Given the description of an element on the screen output the (x, y) to click on. 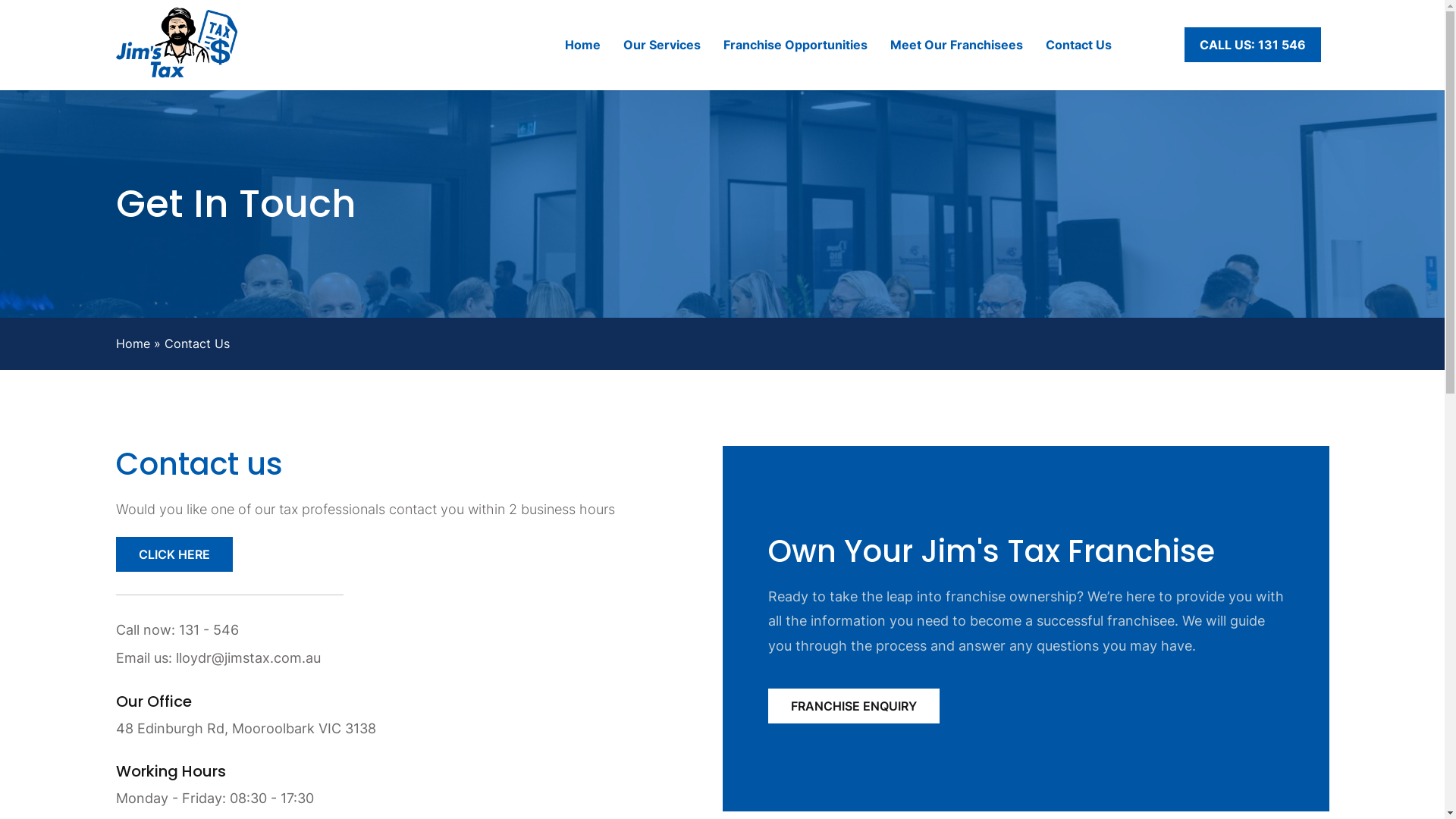
Home Element type: text (582, 44)
Franchise Opportunities Element type: text (795, 44)
Call now: 131 - 546 Element type: text (380, 630)
Home Element type: text (132, 343)
Our Services Element type: text (661, 44)
CALL US: 131 546 Element type: text (1252, 44)
Meet Our Franchisees Element type: text (956, 44)
FRANCHISE ENQUIRY Element type: text (852, 705)
CLICK HERE Element type: text (173, 553)
Email us: lloydr@jimstax.com.au Element type: text (380, 658)
Contact Us Element type: text (1078, 44)
